Given the description of an element on the screen output the (x, y) to click on. 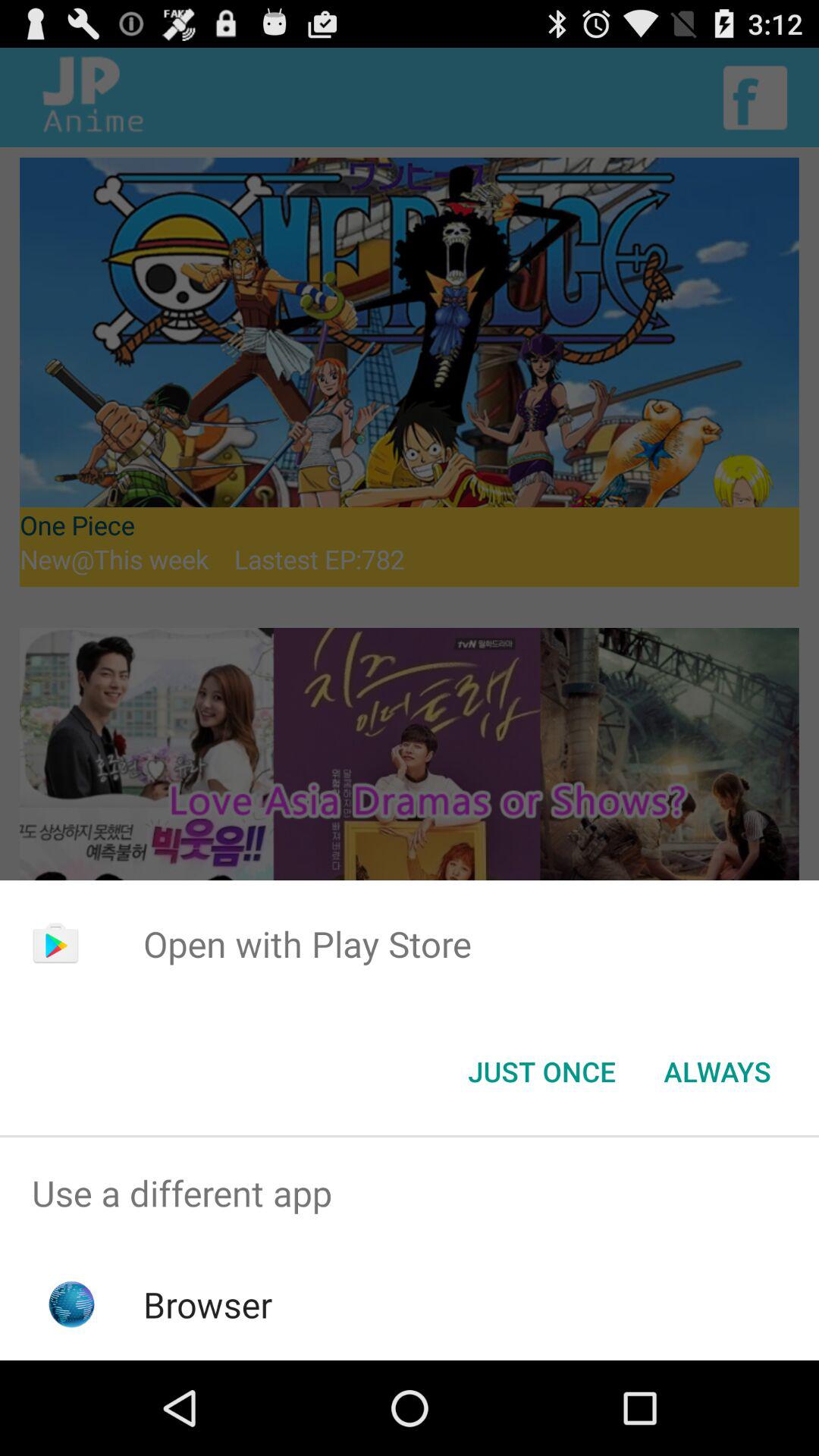
scroll to the always item (717, 1071)
